Given the description of an element on the screen output the (x, y) to click on. 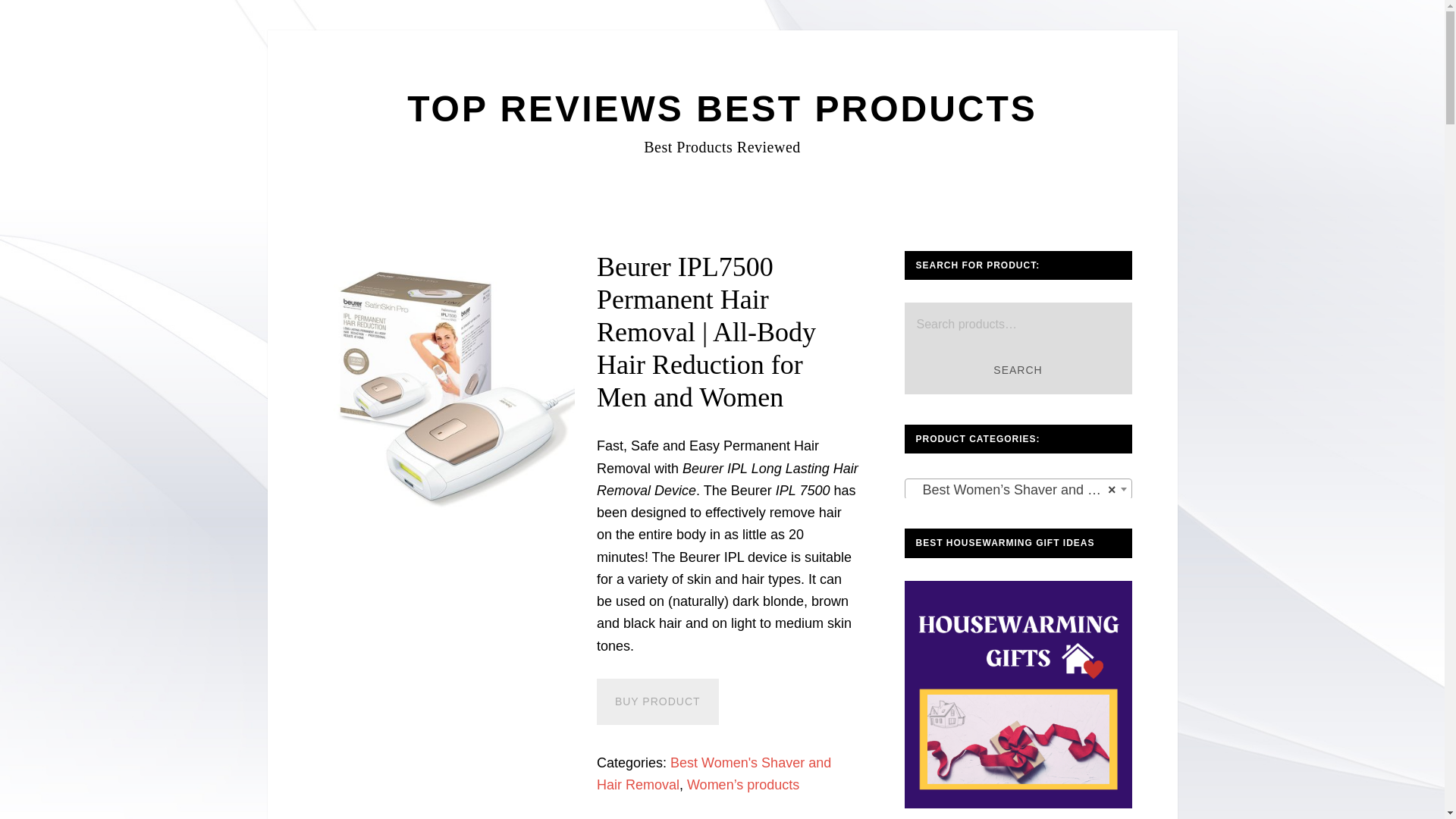
Best Women's Shaver and Hair Removal (713, 773)
BUY PRODUCT (657, 701)
SEARCH (1017, 369)
TOP REVIEWS BEST PRODUCTS (721, 108)
